Given the description of an element on the screen output the (x, y) to click on. 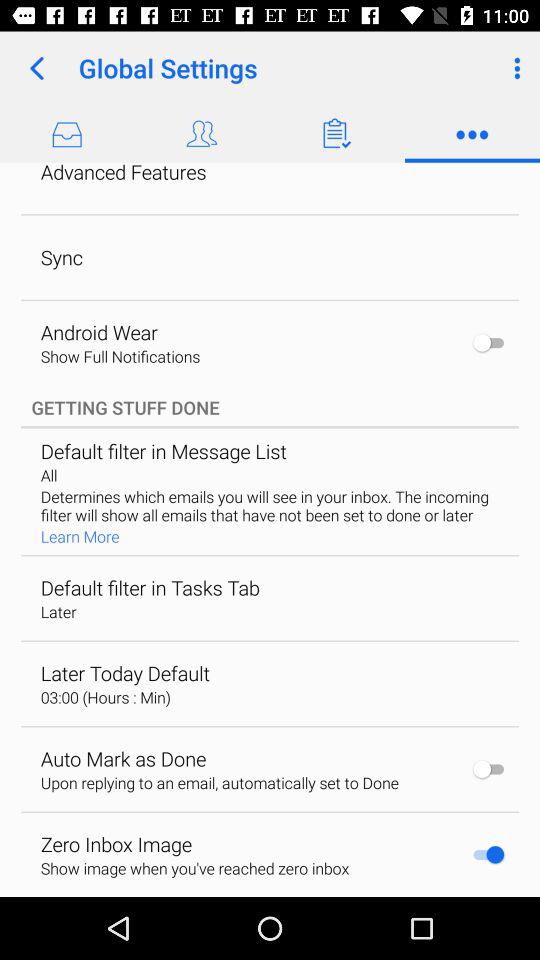
click the item to the right of the global settings app (513, 67)
